Given the description of an element on the screen output the (x, y) to click on. 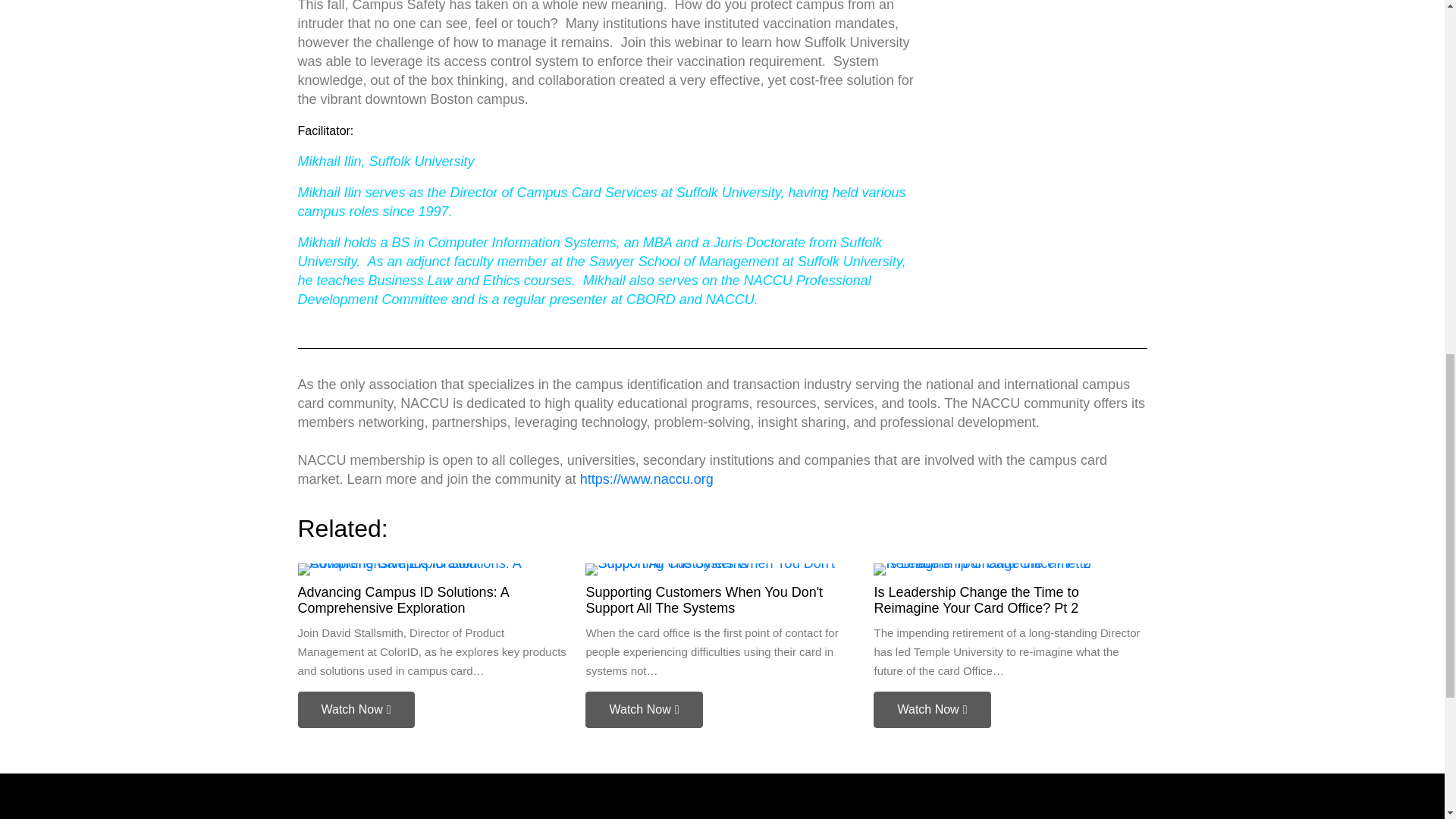
Watch Now (355, 709)
Advancing Campus ID Solutions: A Comprehensive Exploration (402, 600)
